Given the description of an element on the screen output the (x, y) to click on. 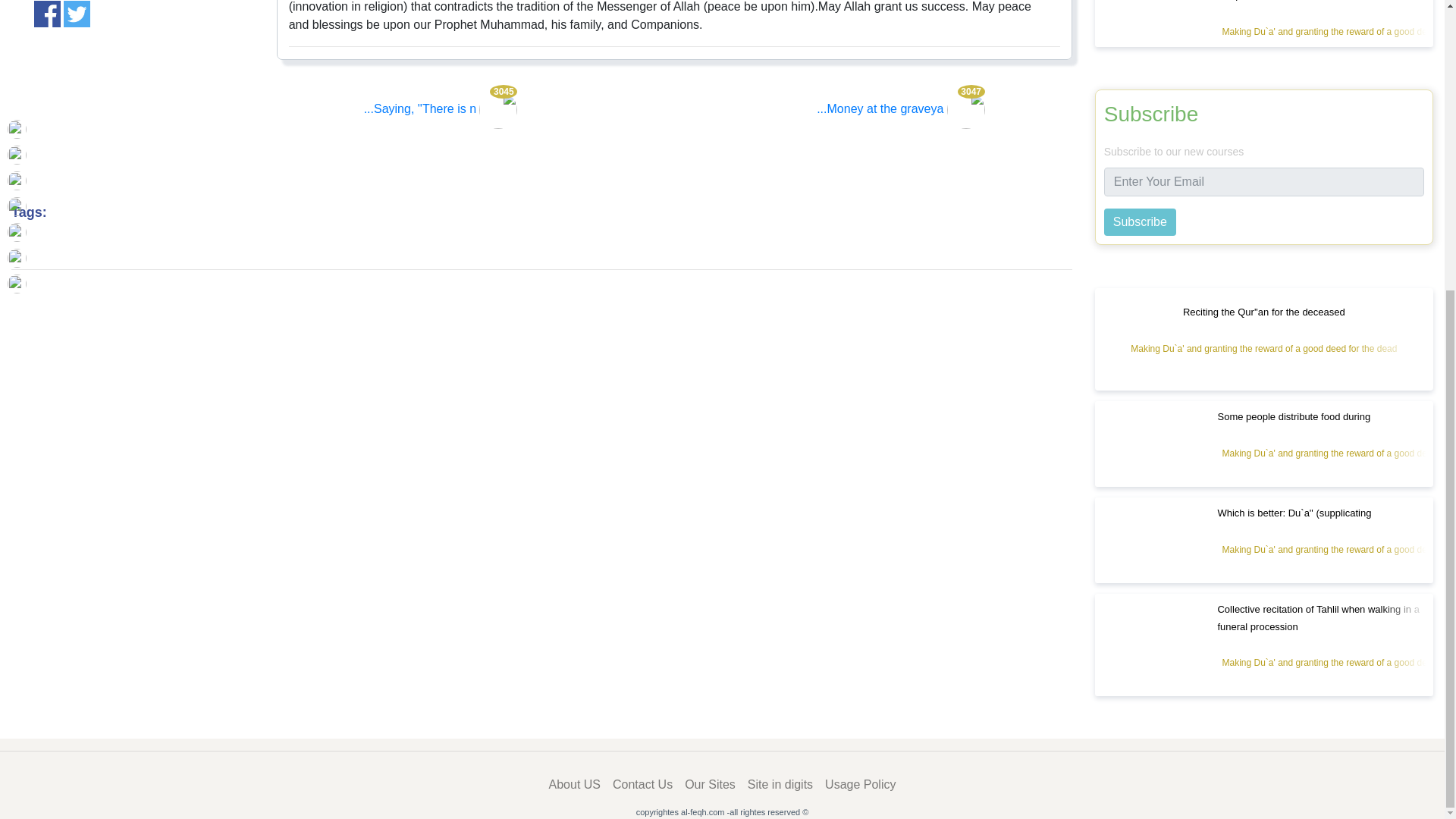
Saying, ''There is no God but Allah'' (441, 108)
Money at the graveyard (900, 108)
